Given the description of an element on the screen output the (x, y) to click on. 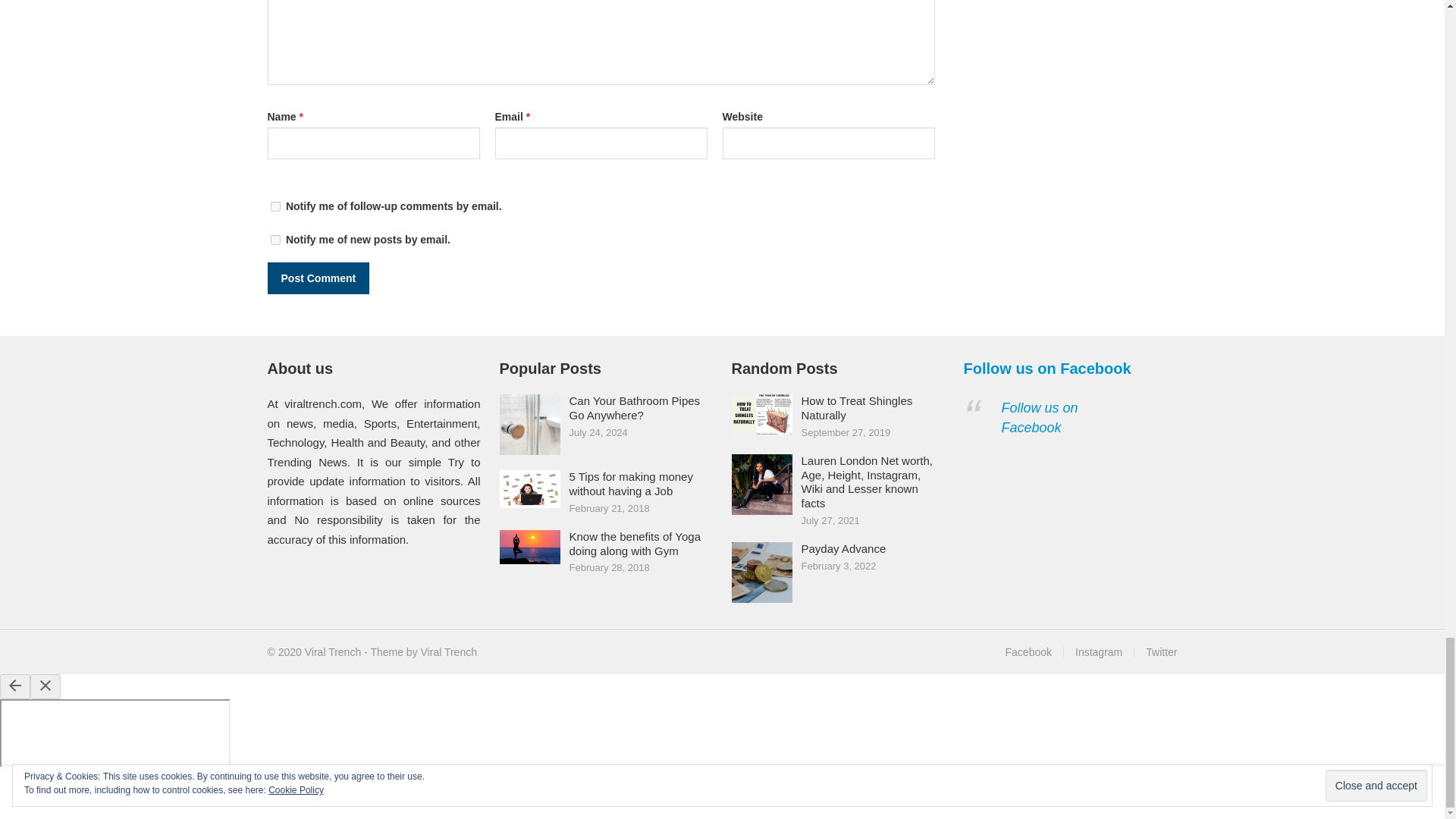
Post Comment (317, 278)
subscribe (274, 239)
subscribe (274, 206)
